Given the description of an element on the screen output the (x, y) to click on. 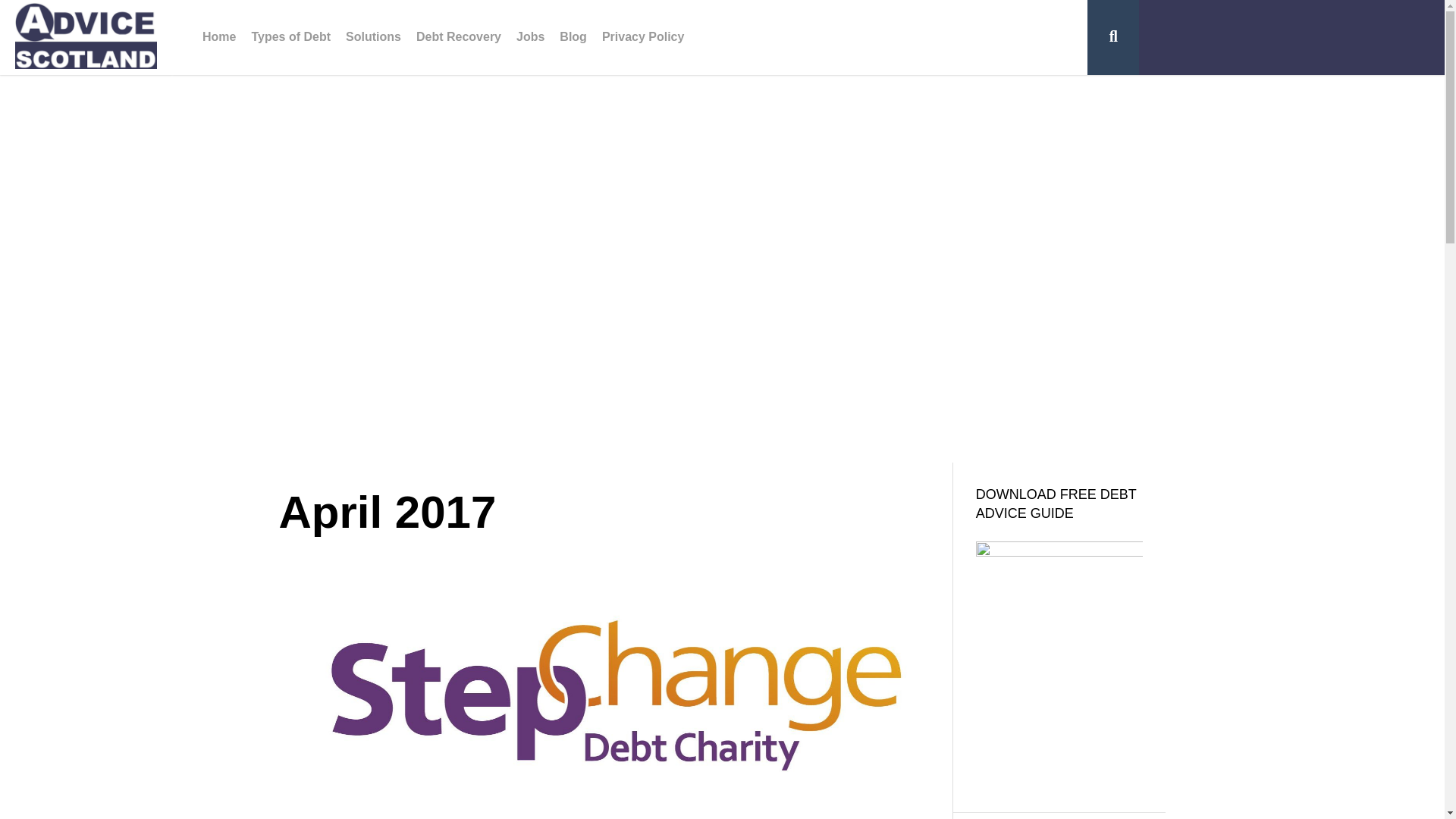
Debt Recovery (458, 38)
Blog (572, 38)
Jobs (529, 38)
Home (219, 38)
Privacy Policy (643, 38)
Solutions (373, 38)
Types of Debt (290, 38)
